Given the description of an element on the screen output the (x, y) to click on. 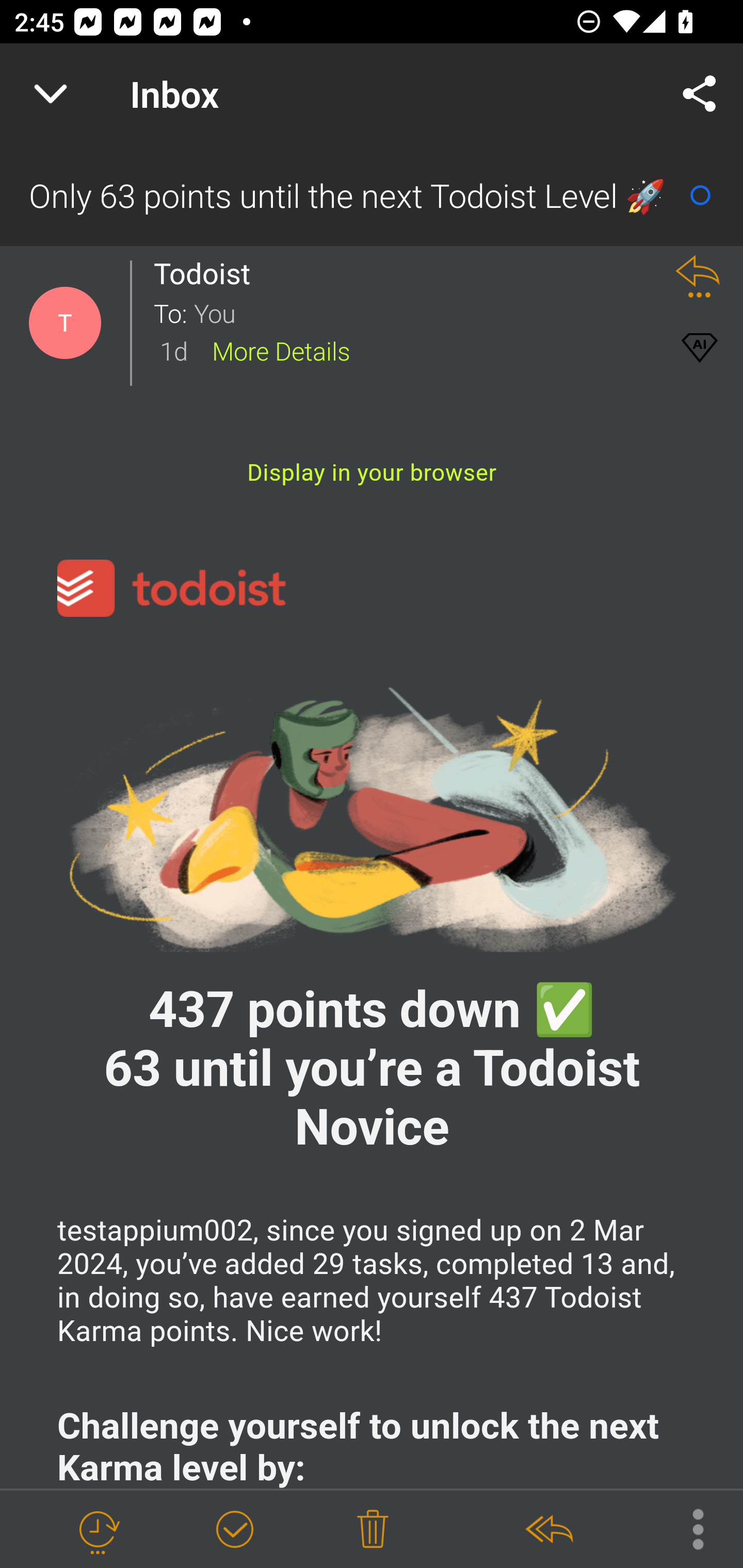
Navigate up (50, 93)
Share (699, 93)
Mark as Read (699, 194)
Todoist (207, 273)
Contact Details (64, 322)
You (422, 311)
More Details (280, 349)
Display in your browser (371, 472)
More Options (687, 1528)
Snooze (97, 1529)
Mark as Done (234, 1529)
Delete (372, 1529)
Reply All (548, 1529)
